Given the description of an element on the screen output the (x, y) to click on. 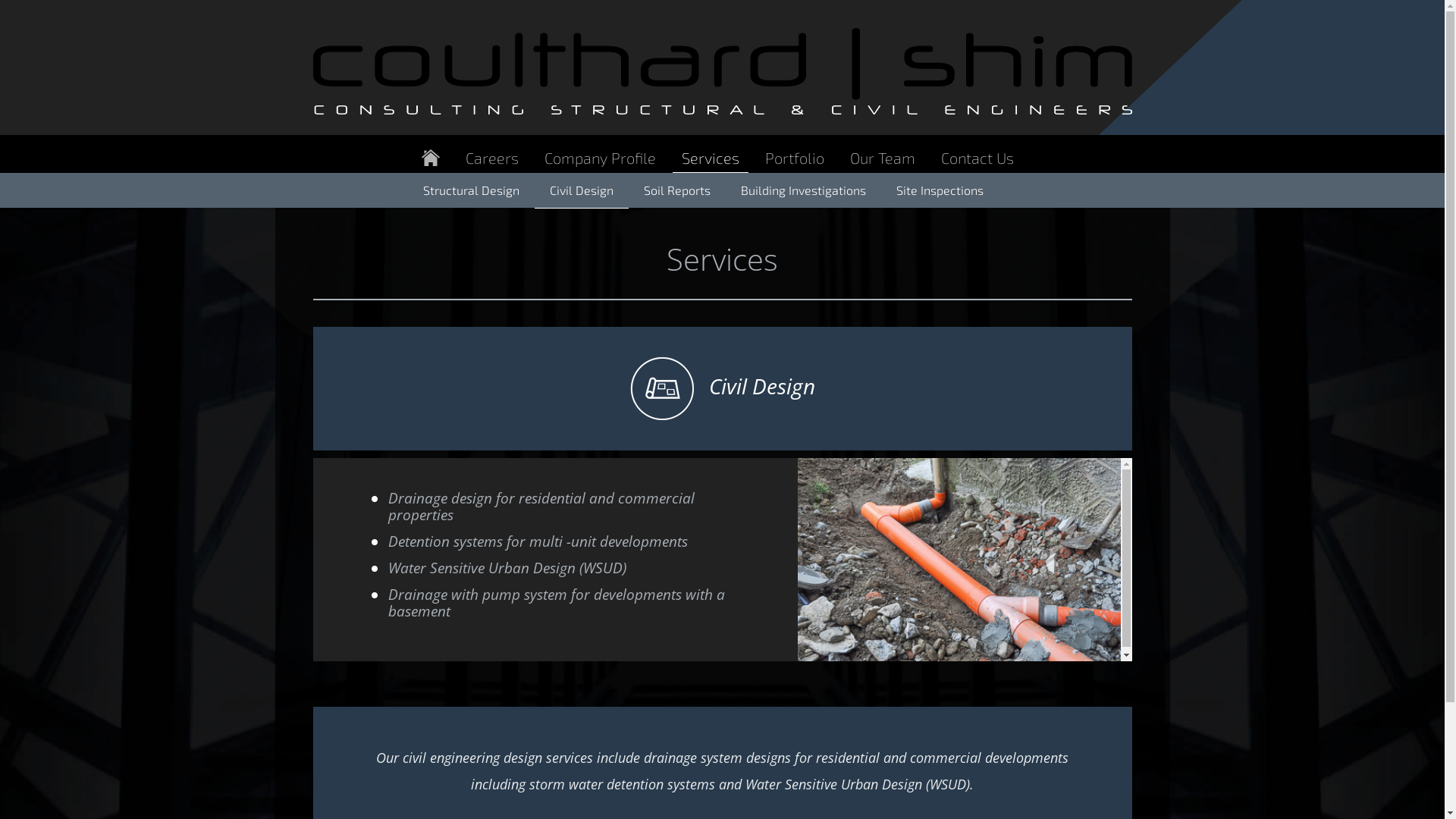
Careers Element type: text (491, 158)
Structural Design Element type: text (470, 189)
Building Investigations Element type: text (802, 189)
Site Inspections Element type: text (939, 189)
Portfolio Element type: text (793, 158)
Soil Reports Element type: text (675, 189)
Contact Us Element type: text (976, 158)
Company Profile Element type: text (600, 158)
Services Element type: text (709, 158)
Civil Design Element type: text (580, 190)
Our Team Element type: text (881, 158)
